Given the description of an element on the screen output the (x, y) to click on. 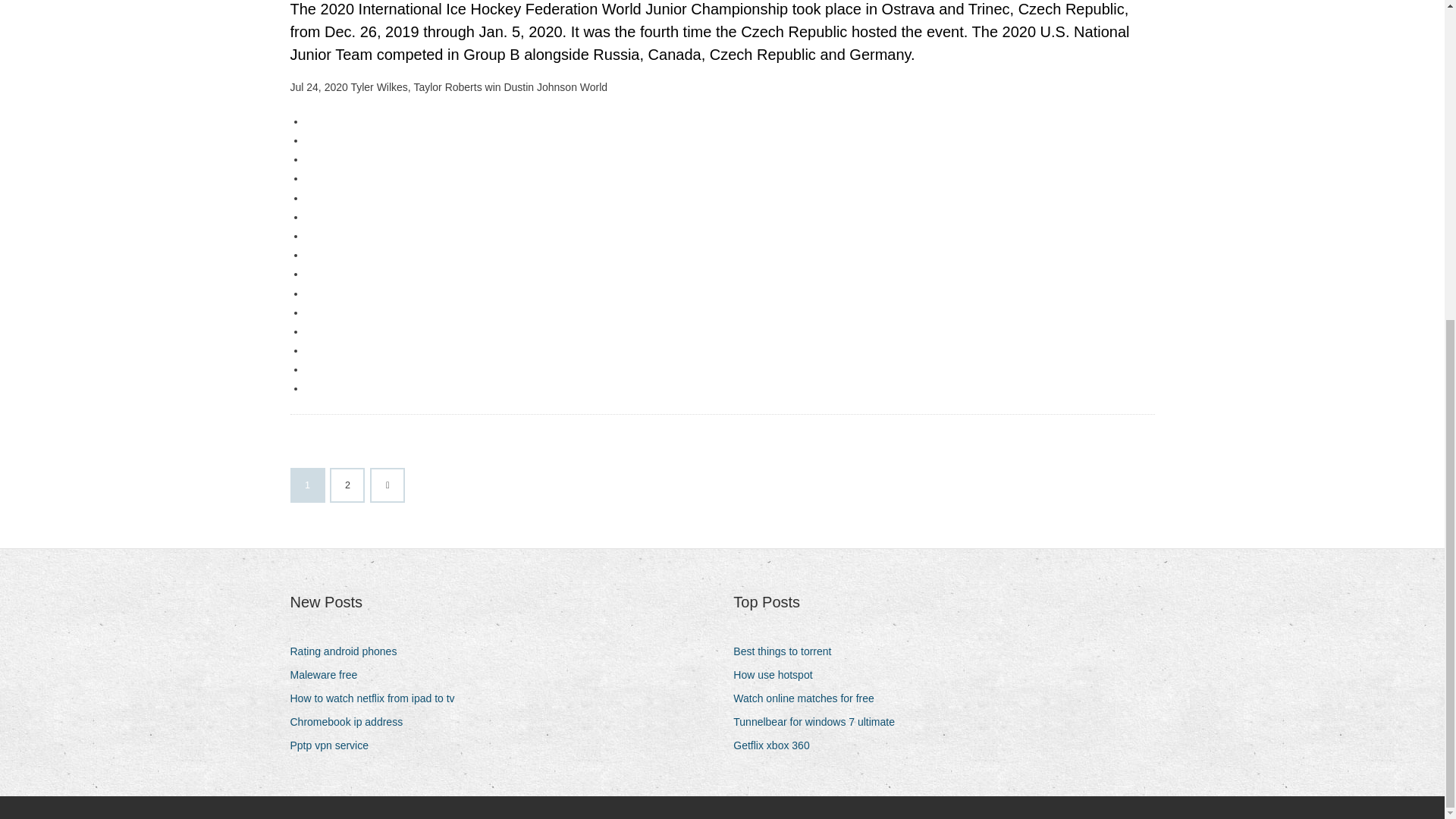
2 (346, 485)
Watch online matches for free (809, 698)
Chromebook ip address (351, 721)
Tunnelbear for windows 7 ultimate (819, 721)
Pptp vpn service (334, 745)
Best things to torrent (788, 651)
Getflix xbox 360 (777, 745)
How use hotspot (778, 675)
Maleware free (328, 675)
How to watch netflix from ipad to tv (377, 698)
